Given the description of an element on the screen output the (x, y) to click on. 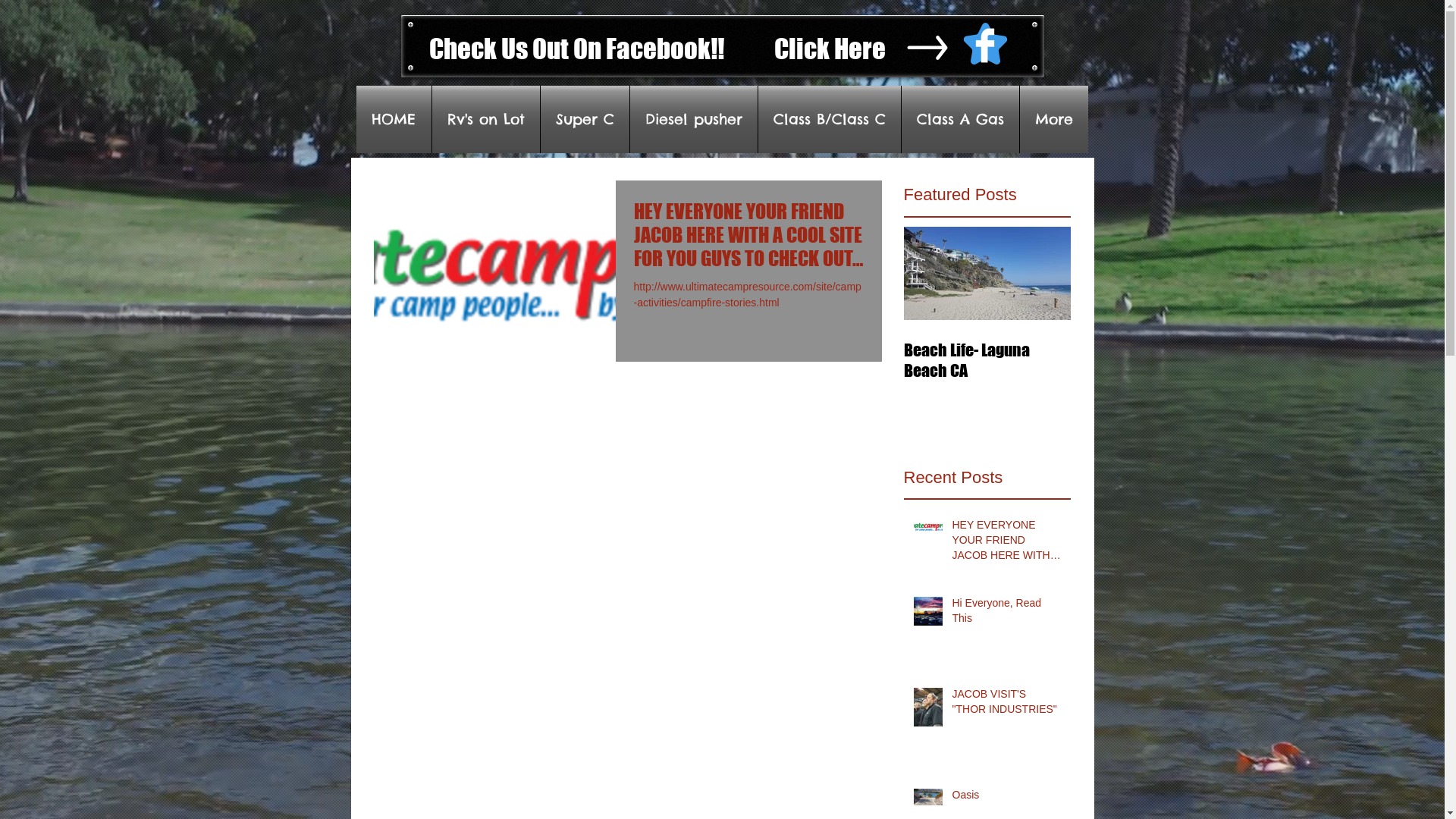
Rv's on Lot Element type: text (485, 119)
Class B/Class C Element type: text (829, 119)
Beach Life- Laguna Beach CA Element type: text (986, 359)
JACOB VISIT'S "THOR INDUSTRIES" Element type: text (1006, 704)
Class A Gas Element type: text (959, 119)
Hi Everyone, Read This Element type: text (1006, 613)
HOME Element type: text (393, 119)
Diesel pusher Element type: text (692, 119)
Super C Element type: text (583, 119)
Oasis Element type: text (1006, 798)
